Given the description of an element on the screen output the (x, y) to click on. 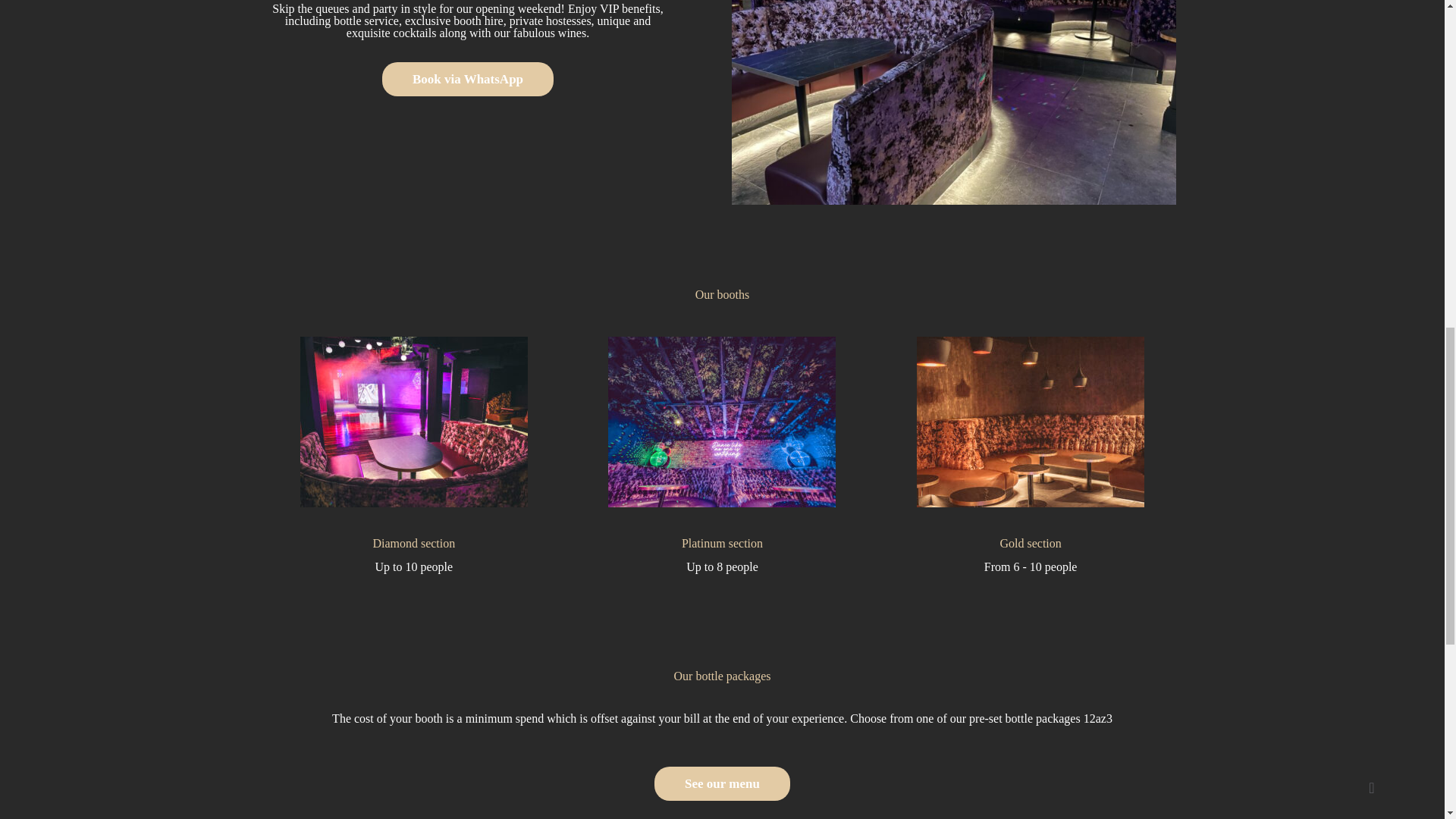
Book via WhatsApp (467, 79)
See our menu (721, 783)
